Given the description of an element on the screen output the (x, y) to click on. 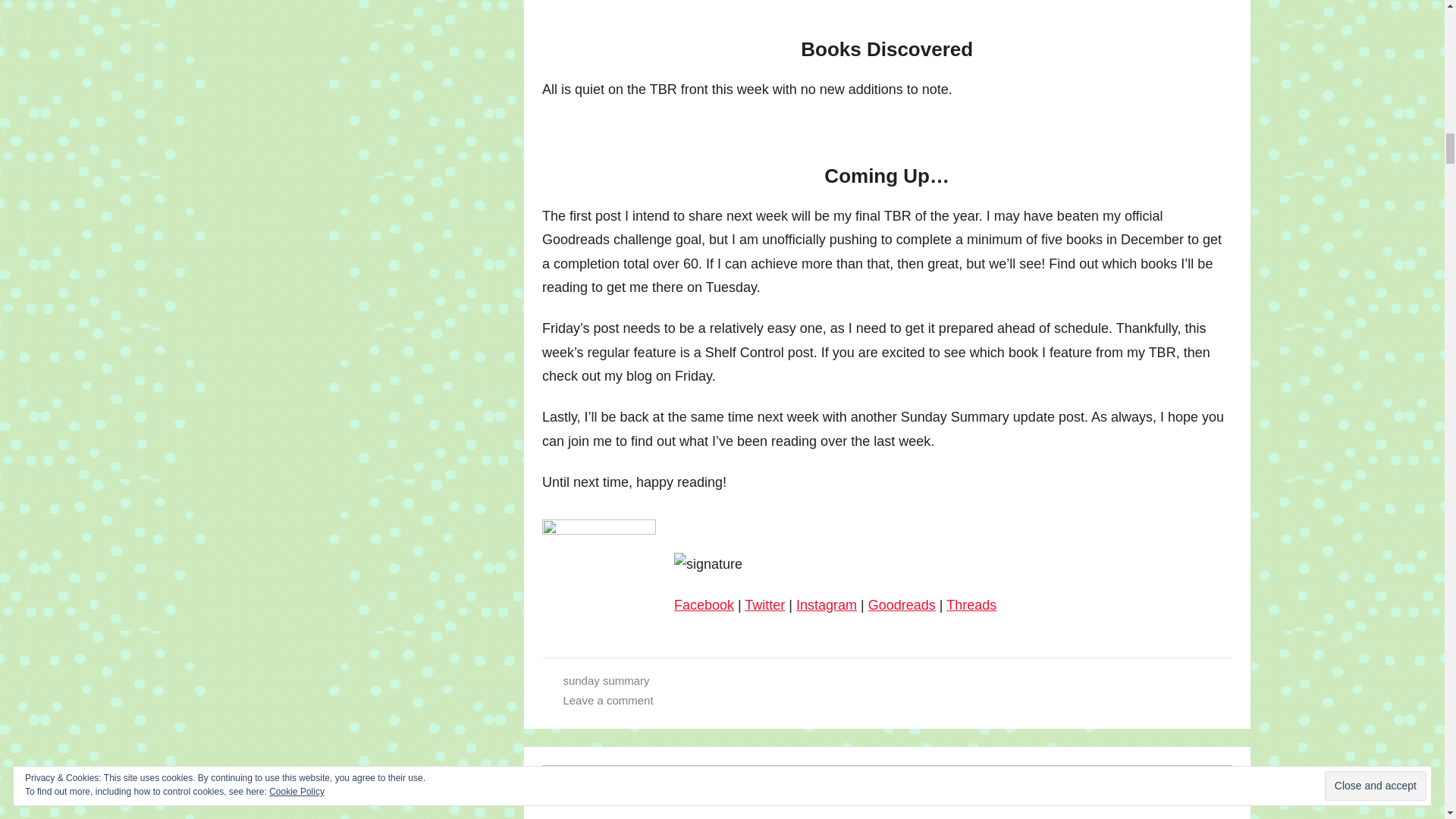
sunday summary (605, 680)
Instagram (826, 604)
Twitter (764, 604)
Threads (970, 604)
Facebook (703, 604)
Leave a comment (607, 699)
Goodreads (901, 604)
